Given the description of an element on the screen output the (x, y) to click on. 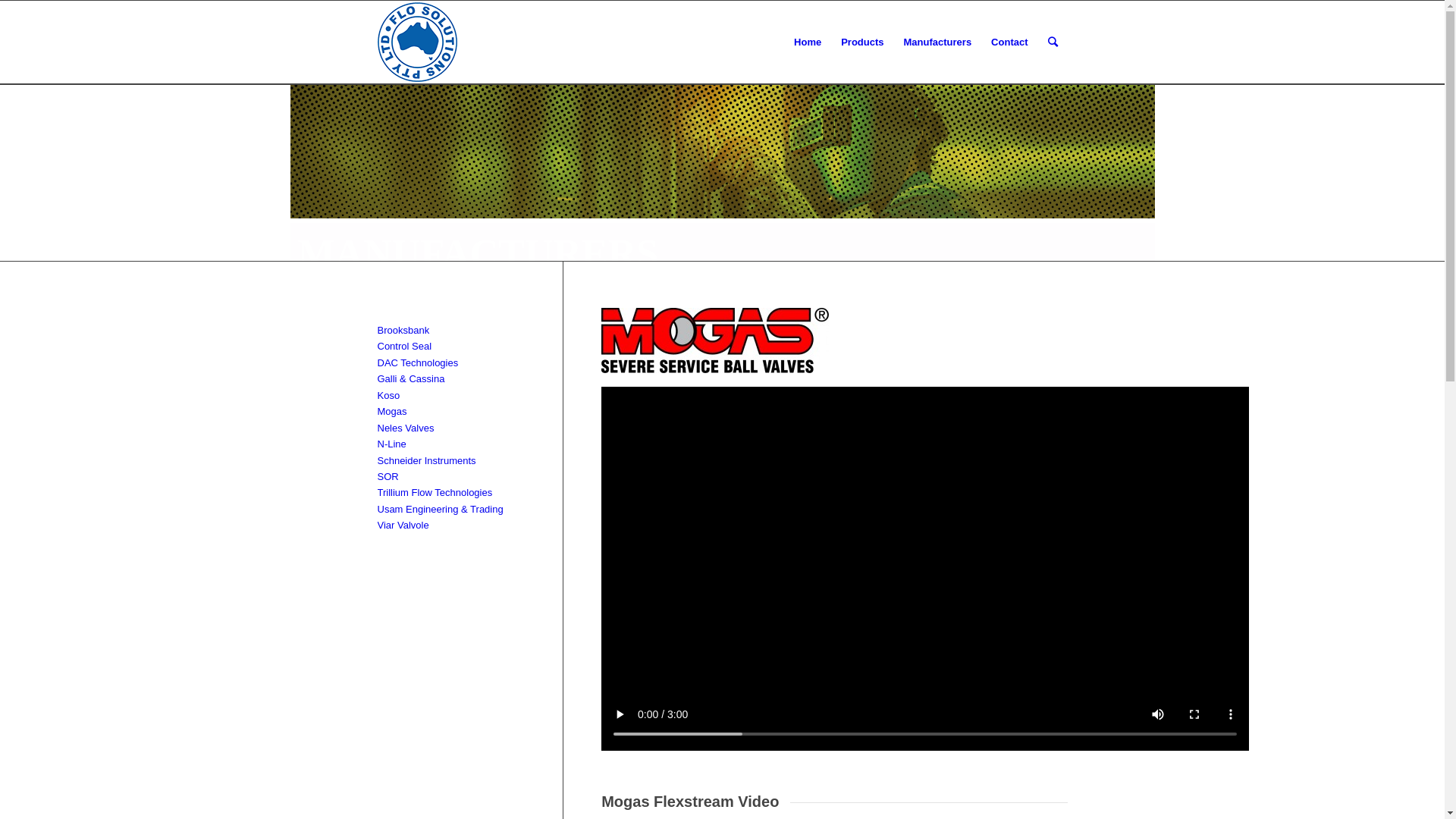
Home Element type: text (807, 42)
Mogas Element type: text (392, 411)
Koso Element type: text (388, 395)
Trillium Flow Technologies Element type: text (434, 492)
Control Seal Element type: text (404, 345)
Usam Engineering & Trading Element type: text (440, 508)
Galli & Cassina Element type: text (411, 378)
N-Line Element type: text (391, 443)
Contact Element type: text (1009, 42)
DAC Technologies Element type: text (417, 362)
Products Element type: text (862, 42)
SOR Element type: text (387, 476)
Viar Valvole Element type: text (403, 524)
Brooksbank Element type: text (403, 329)
Schneider Instruments Element type: text (426, 460)
Manufacturers Element type: text (938, 42)
Neles Valves Element type: text (405, 427)
